Given the description of an element on the screen output the (x, y) to click on. 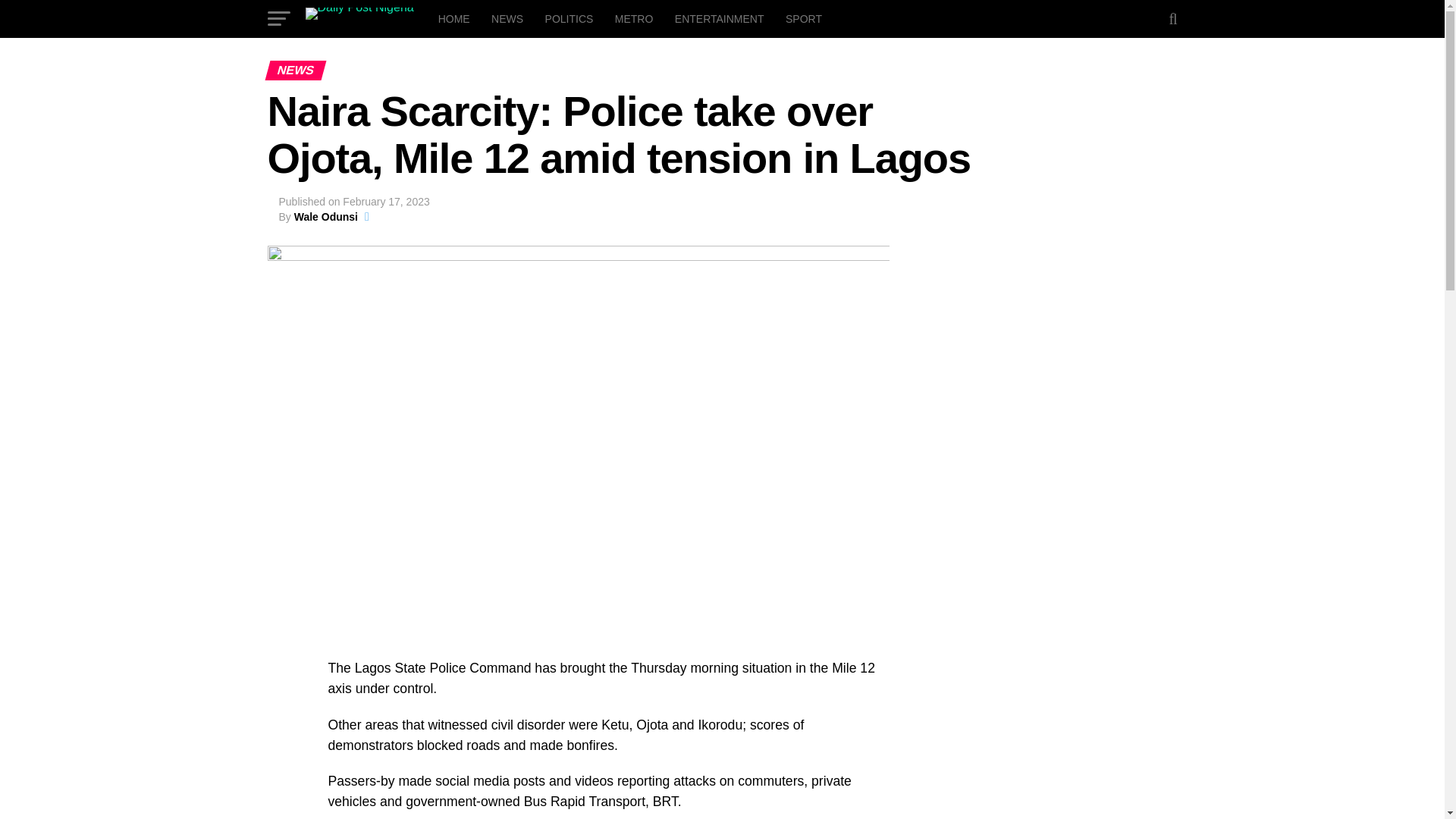
SPORT (803, 18)
POLITICS (568, 18)
Wale Odunsi (326, 216)
ENTERTAINMENT (719, 18)
Posts by Wale Odunsi (326, 216)
METRO (633, 18)
HOME (454, 18)
NEWS (506, 18)
